Given the description of an element on the screen output the (x, y) to click on. 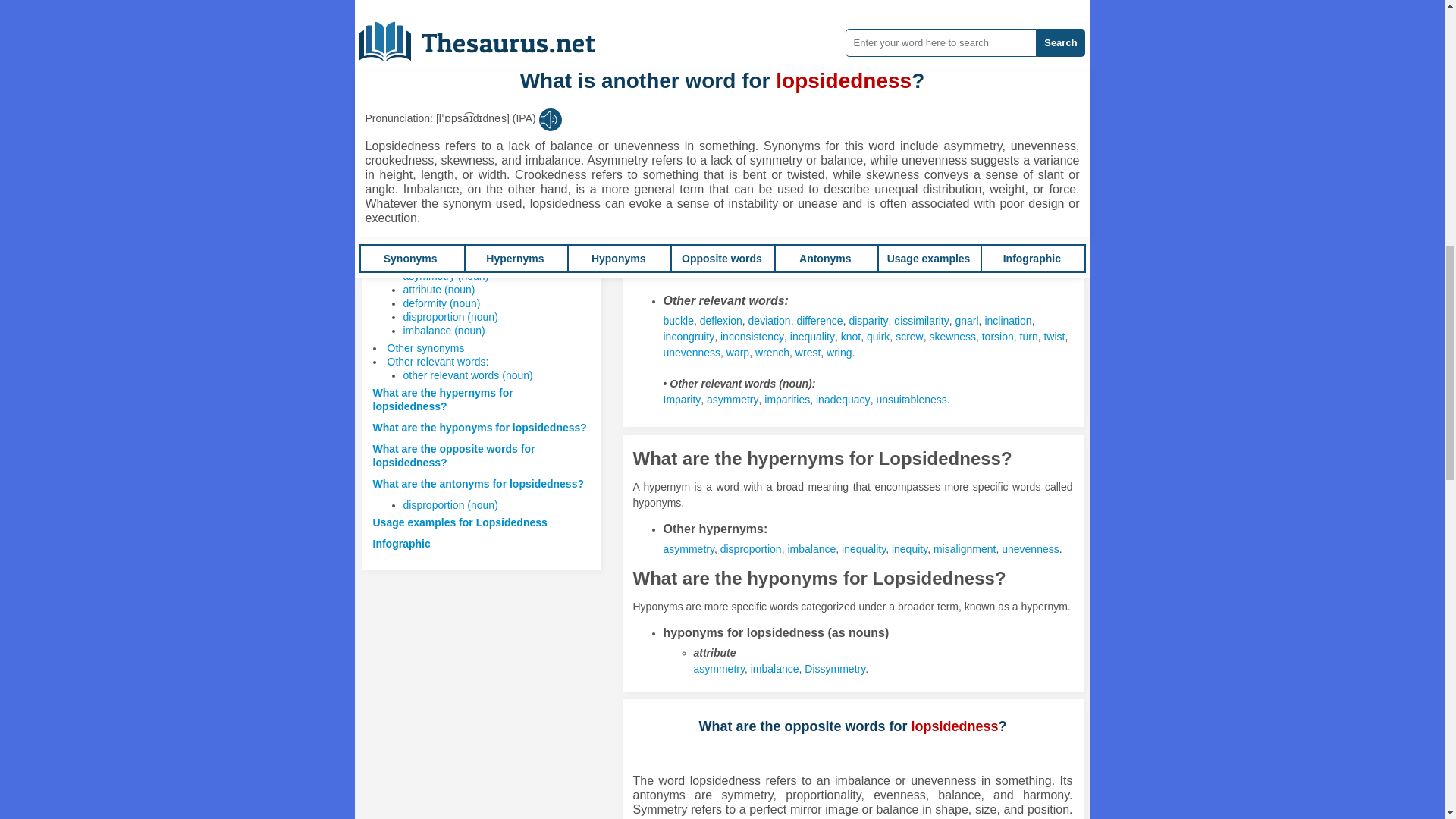
Synonyms for Lopsidedness (699, 269)
Synonyms for Lopsidedness (760, 15)
contortion (715, 109)
distortion (938, 109)
Infographic (401, 543)
corruption (768, 109)
Synonyms for Lopsidedness (761, 269)
Synonyms for Lopsidedness (677, 320)
deformity (820, 109)
Synonyms for Lopsidedness (692, 15)
